Given the description of an element on the screen output the (x, y) to click on. 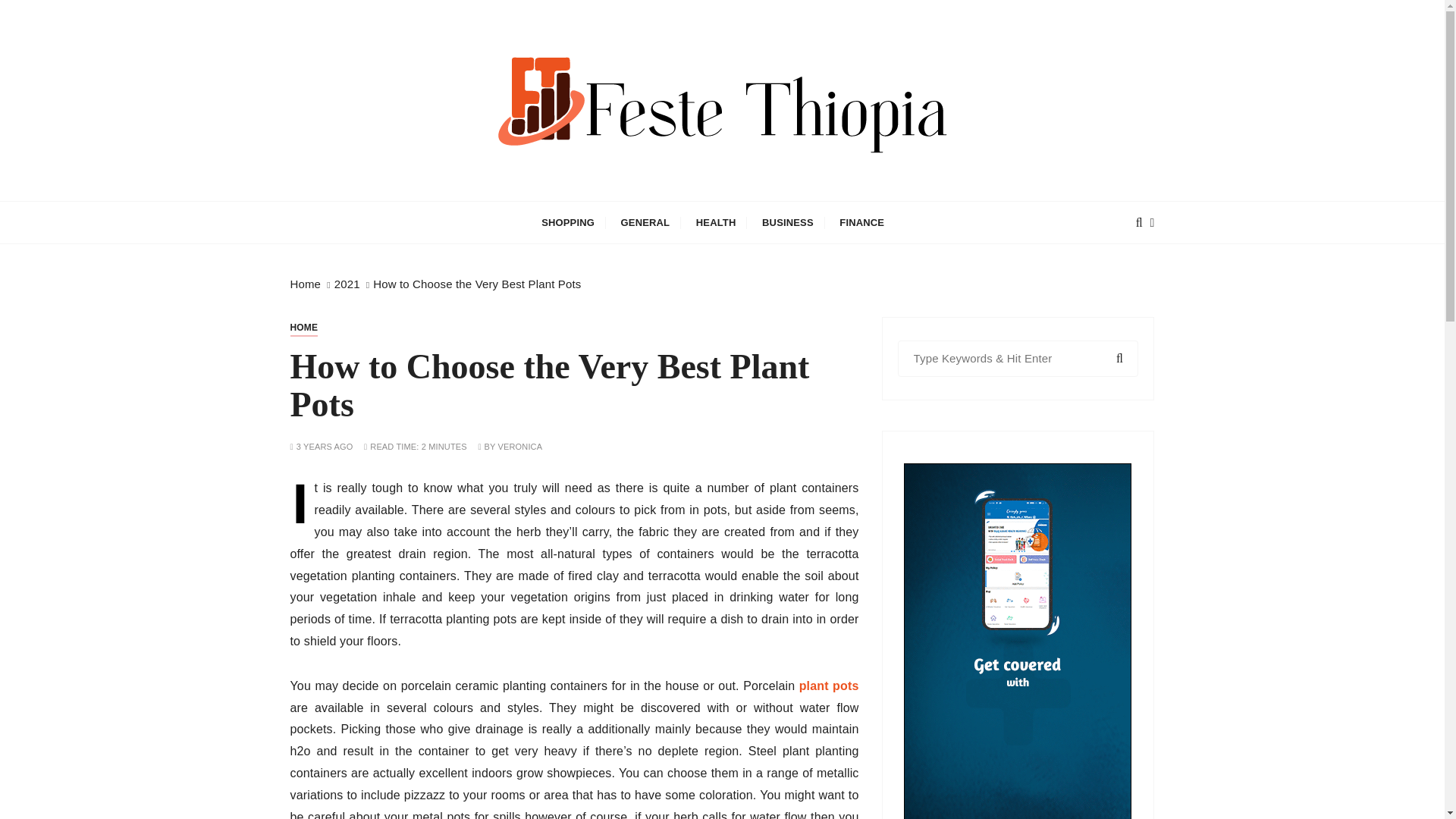
BUSINESS (788, 222)
2021 (346, 283)
FINANCE (861, 222)
HEALTH (716, 222)
SHOPPING (567, 222)
Artificial Satellite (440, 211)
HOME (303, 327)
Home (304, 283)
GENERAL (645, 222)
How to Choose the Very Best Plant Pots (476, 283)
